Given the description of an element on the screen output the (x, y) to click on. 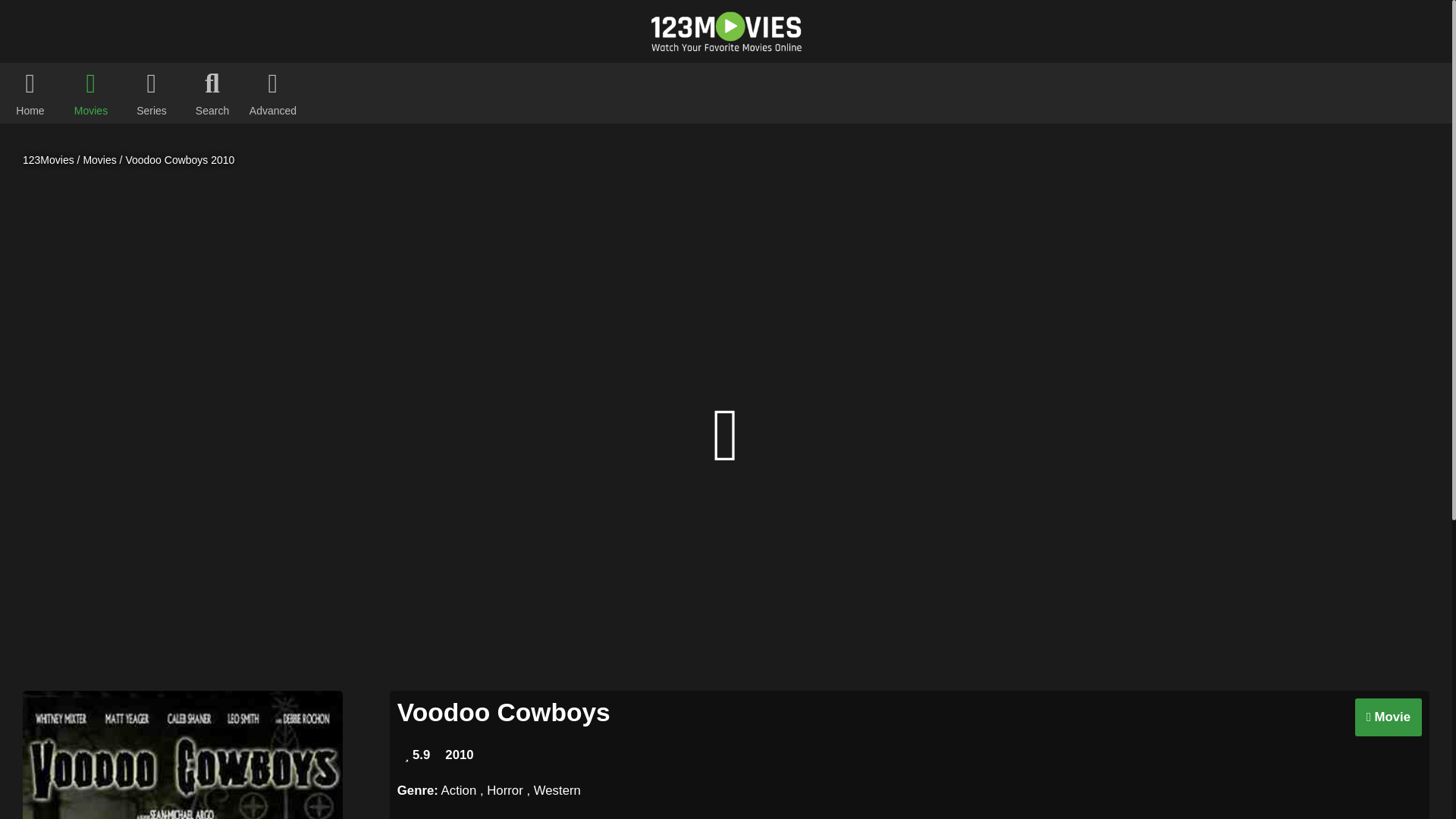
123Movies (48, 159)
Release date (459, 754)
123Movies (48, 159)
Movies (99, 159)
Voodoo Cowboys 2010 (179, 159)
Rating (417, 754)
Movies (99, 159)
Voodoo Cowboys 2010 (179, 159)
